Given the description of an element on the screen output the (x, y) to click on. 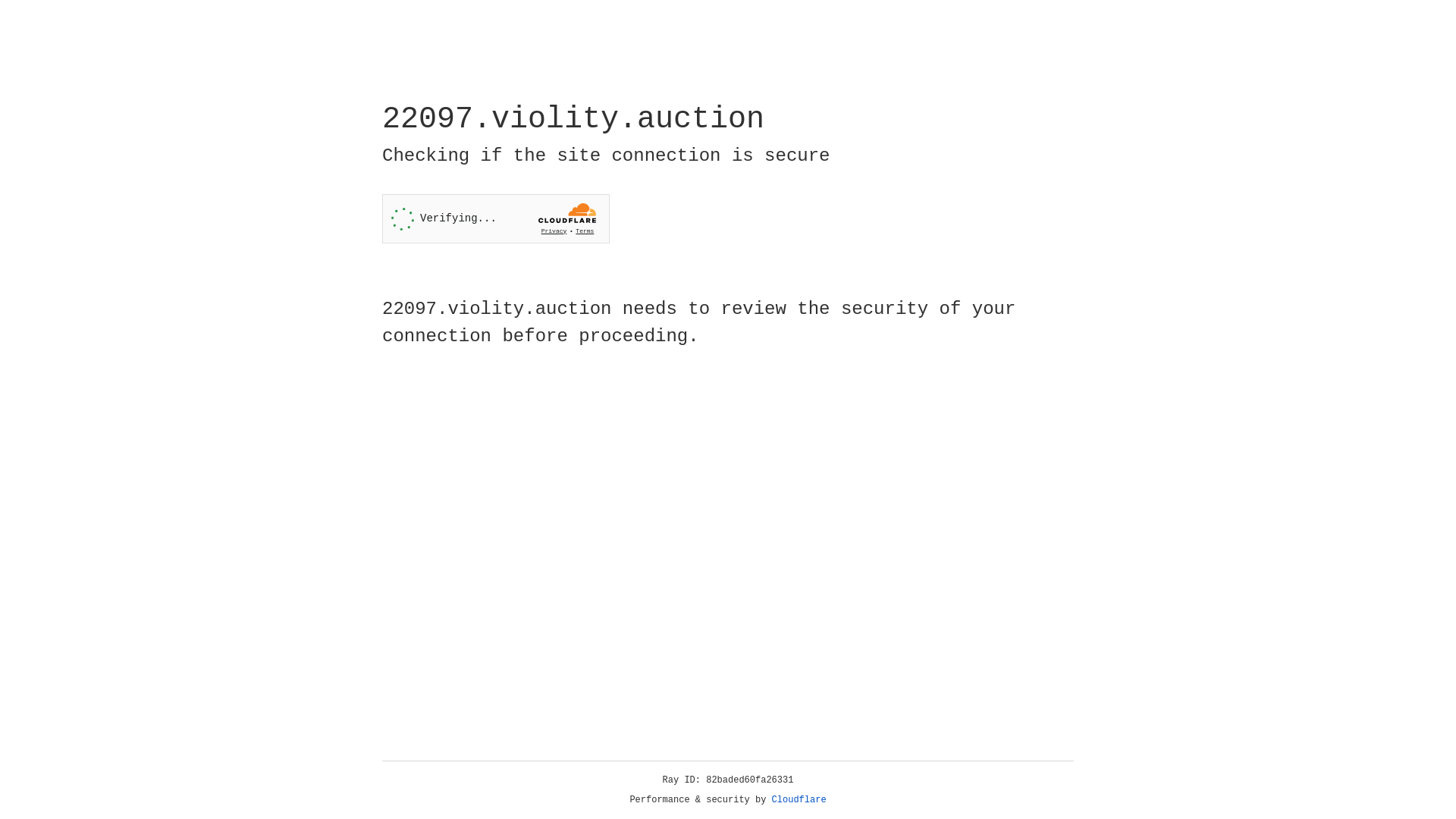
Cloudflare Element type: text (798, 799)
